Given the description of an element on the screen output the (x, y) to click on. 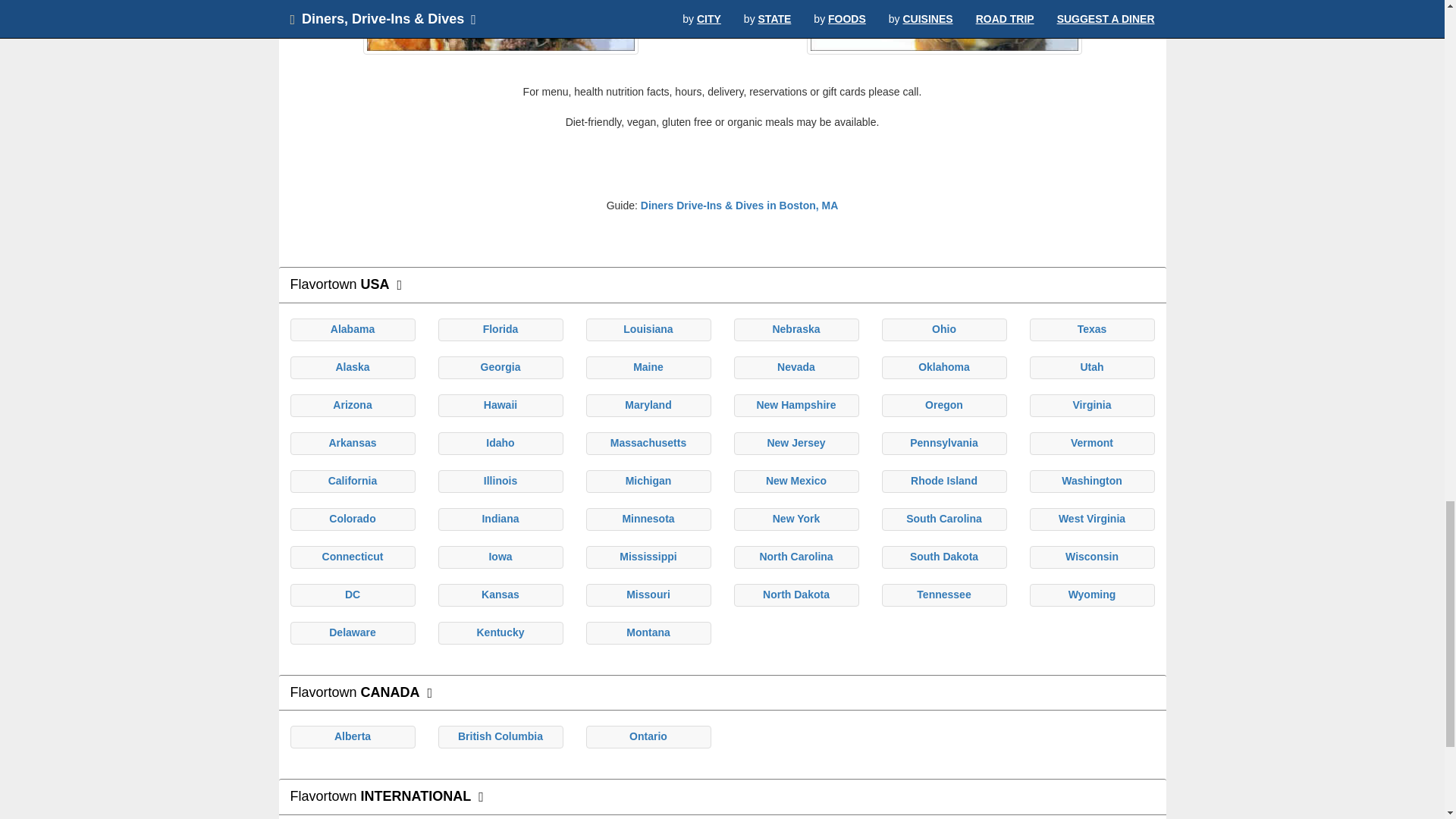
Kentucky (500, 632)
Alaska (351, 367)
Hawaii (499, 404)
Missouri (647, 594)
Idaho (499, 442)
Maine (648, 367)
Indiana (499, 518)
Alabama (352, 328)
Iowa (499, 556)
Arkansas (352, 442)
Montana (647, 632)
Michigan (648, 480)
Georgia (500, 367)
Delaware (352, 632)
Colorado (352, 518)
